Given the description of an element on the screen output the (x, y) to click on. 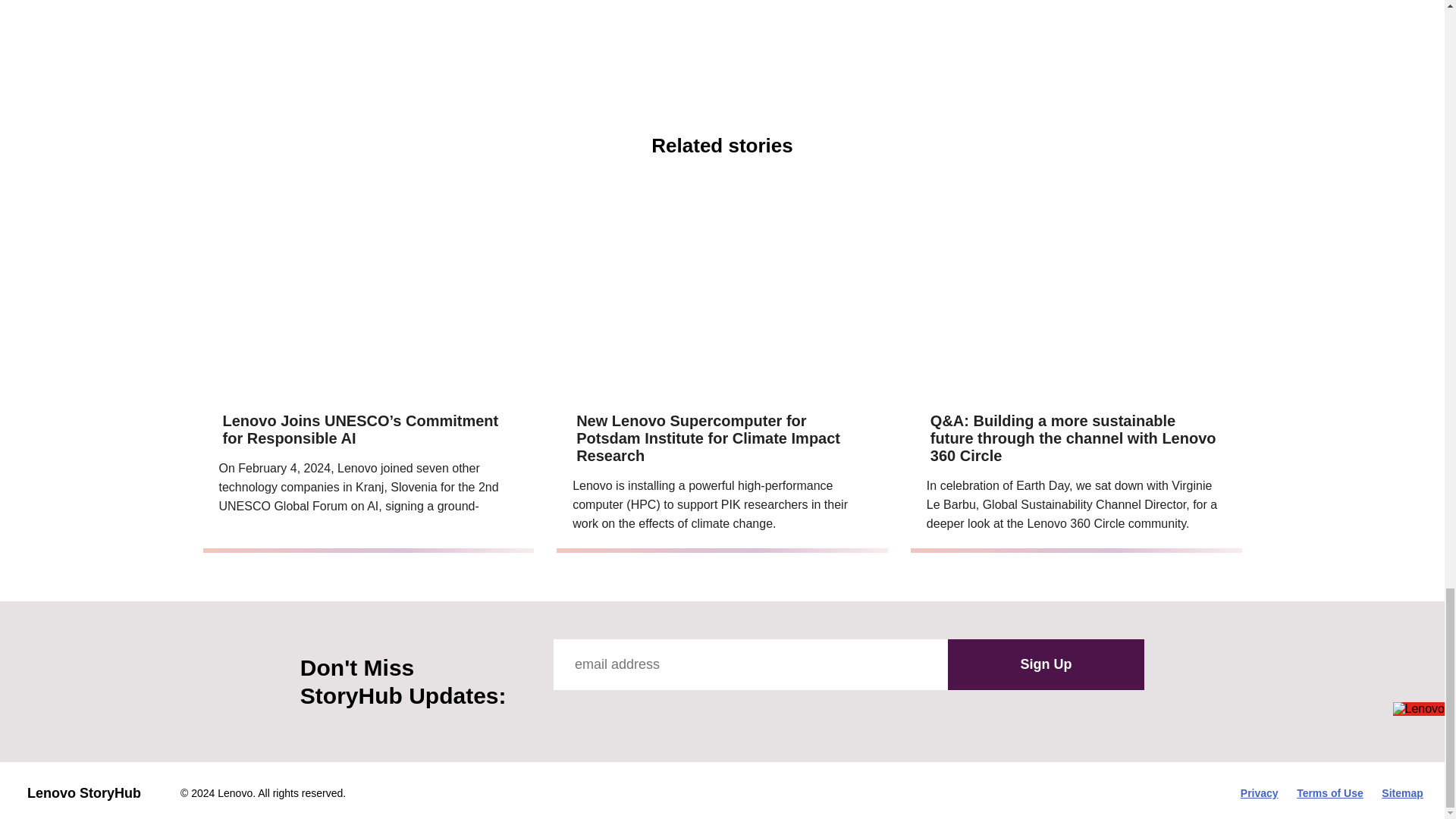
Learn more about our AI-powered transformation. (854, 42)
Sign Up (1045, 665)
Sign Up (1045, 665)
LinkedIn (701, 712)
Youtube (633, 712)
Instagram (667, 712)
Facebook (564, 712)
Twitter (599, 712)
